Given the description of an element on the screen output the (x, y) to click on. 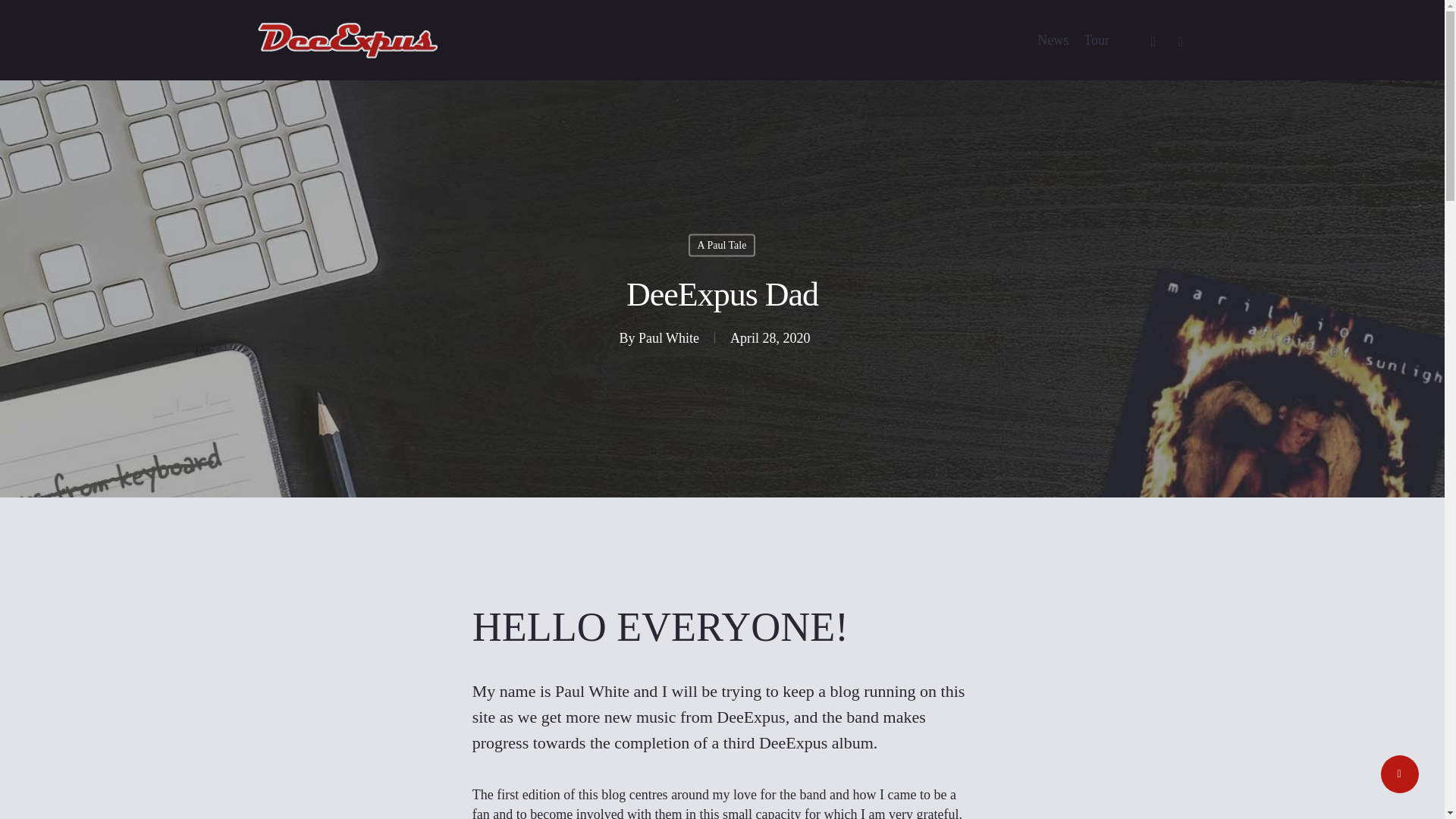
News (1052, 39)
Tour (1096, 39)
Paul White (668, 337)
youtube (1180, 40)
Posts by Paul White (668, 337)
facebook (1153, 40)
A Paul Tale (721, 244)
